Given the description of an element on the screen output the (x, y) to click on. 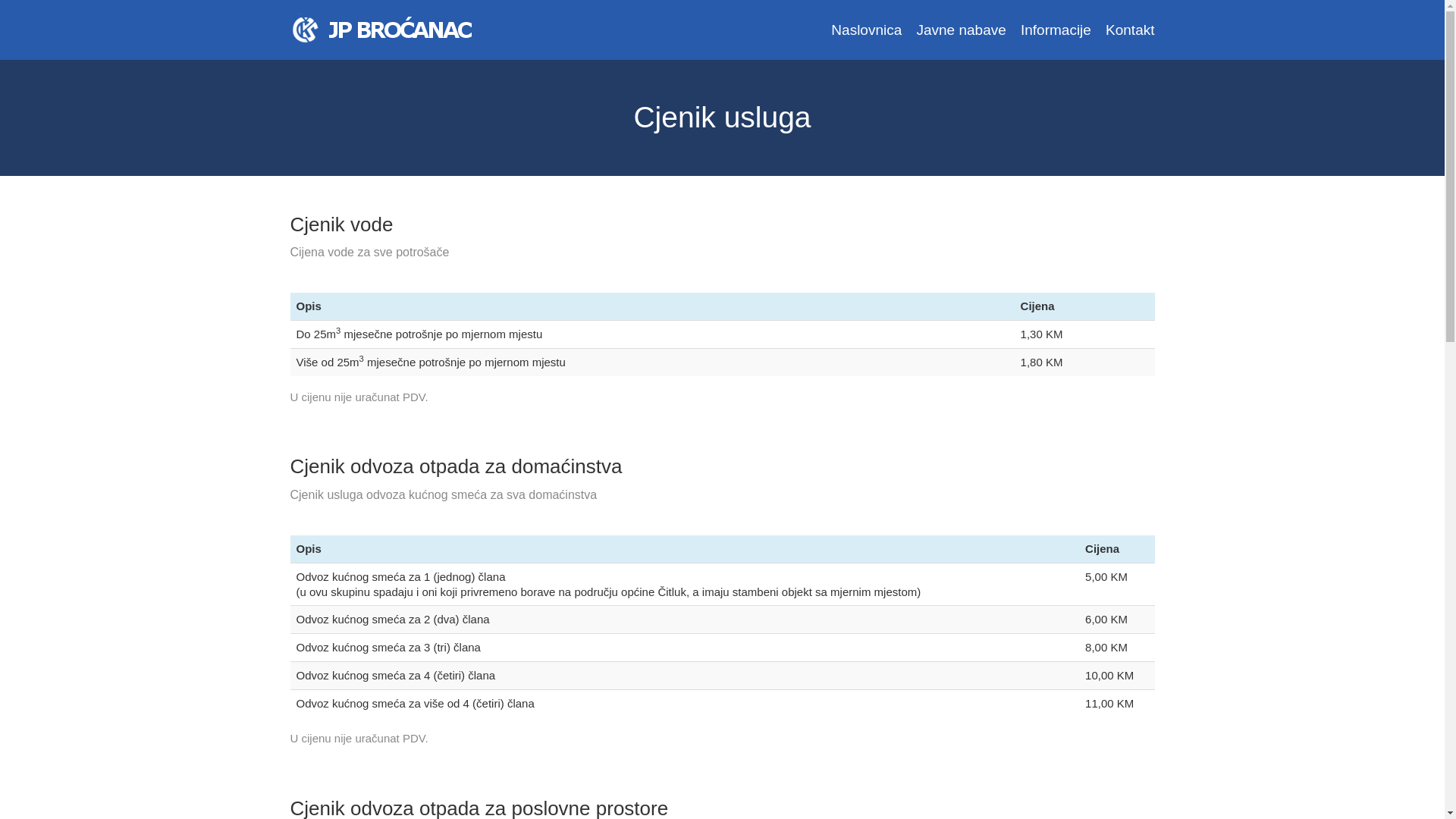
Kontakt Element type: text (1129, 29)
Naslovnica Element type: text (866, 29)
Javne nabave Element type: text (960, 29)
Informacije Element type: text (1055, 29)
